Given the description of an element on the screen output the (x, y) to click on. 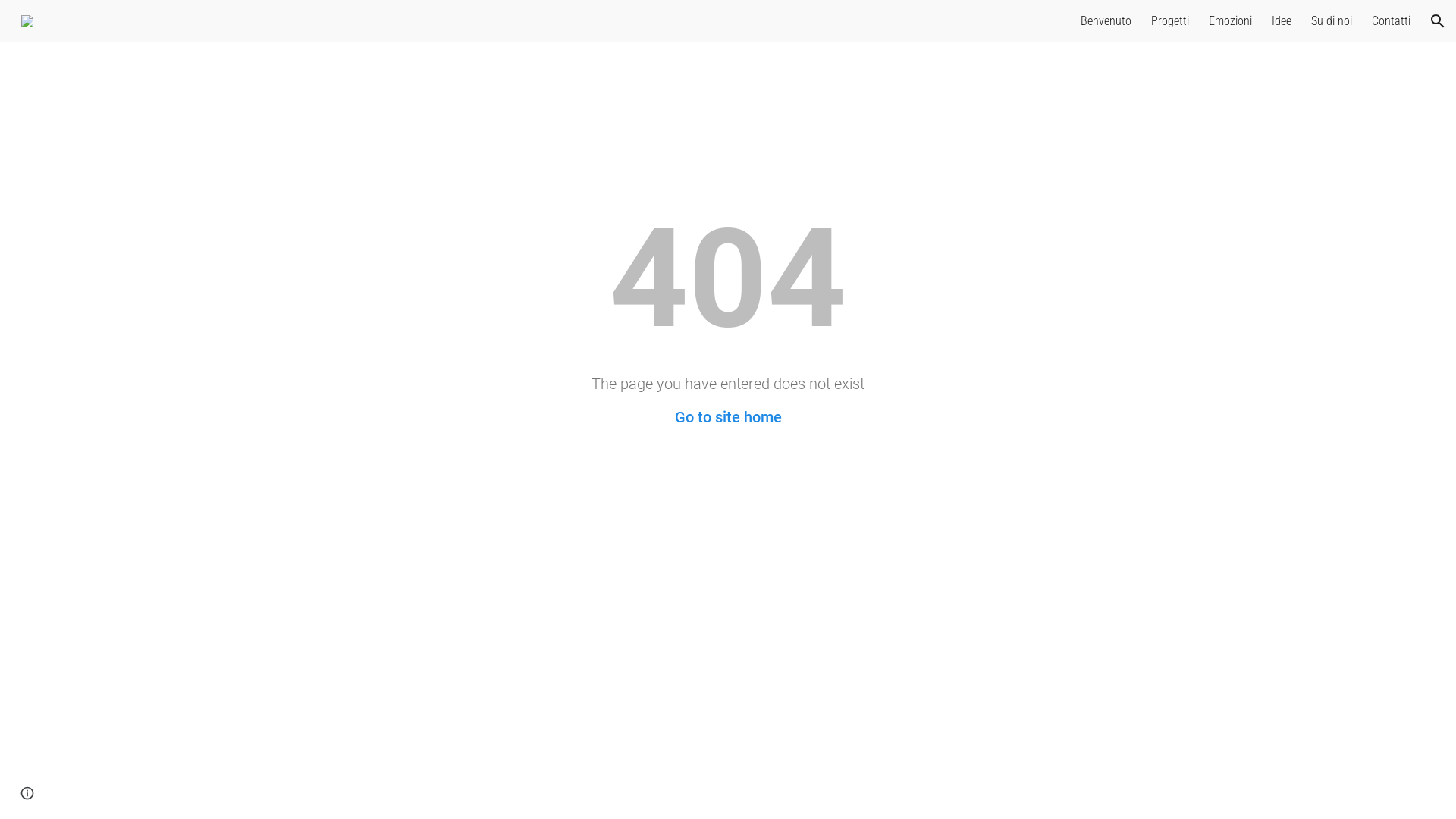
Progetti Element type: text (1170, 20)
Go to site home Element type: text (727, 416)
Idee Element type: text (1281, 20)
Benvenuto Element type: text (1105, 20)
Contatti Element type: text (1390, 20)
Emozioni Element type: text (1230, 20)
Su di noi Element type: text (1331, 20)
